Given the description of an element on the screen output the (x, y) to click on. 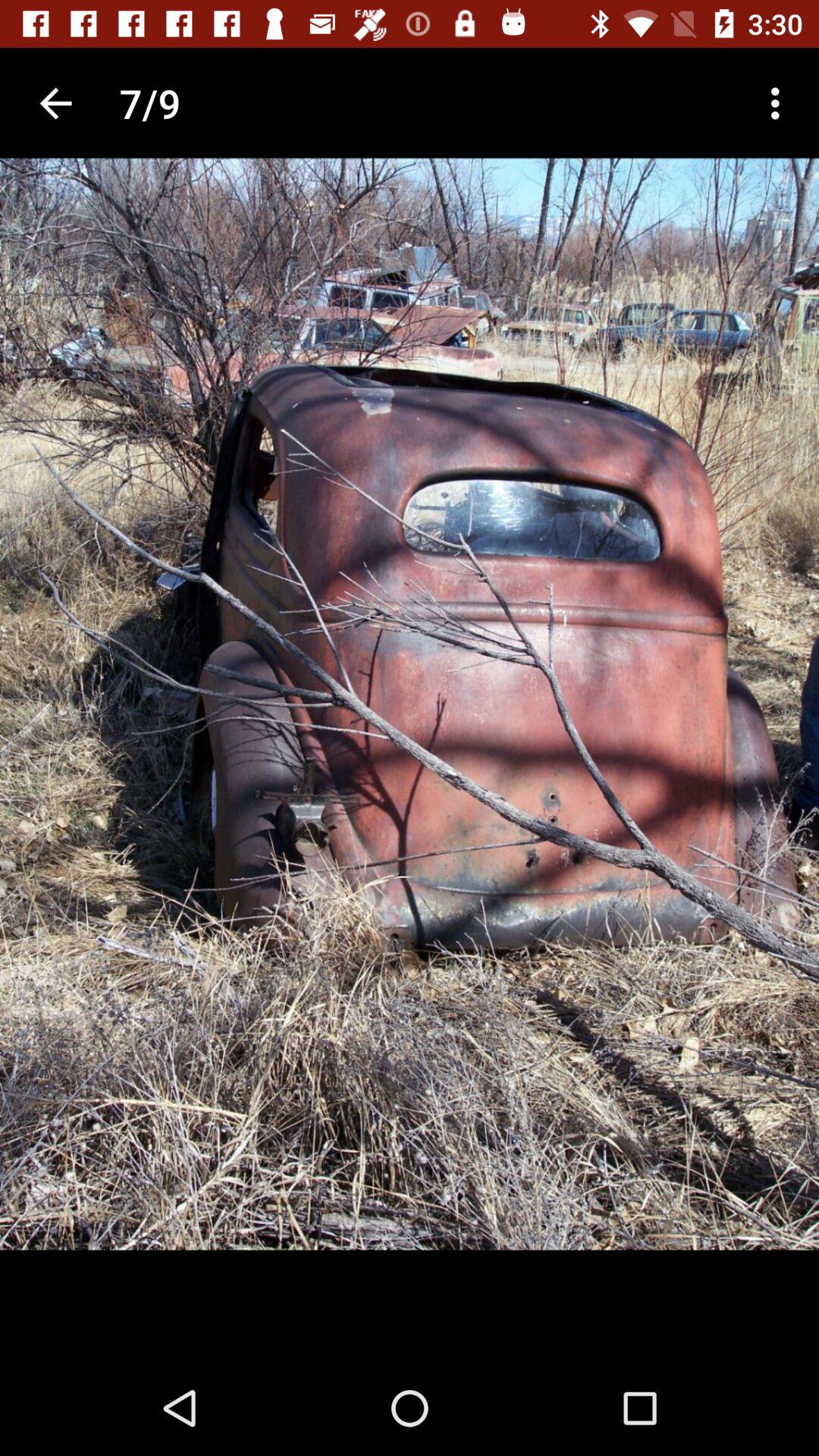
turn on icon at the top right corner (779, 103)
